Given the description of an element on the screen output the (x, y) to click on. 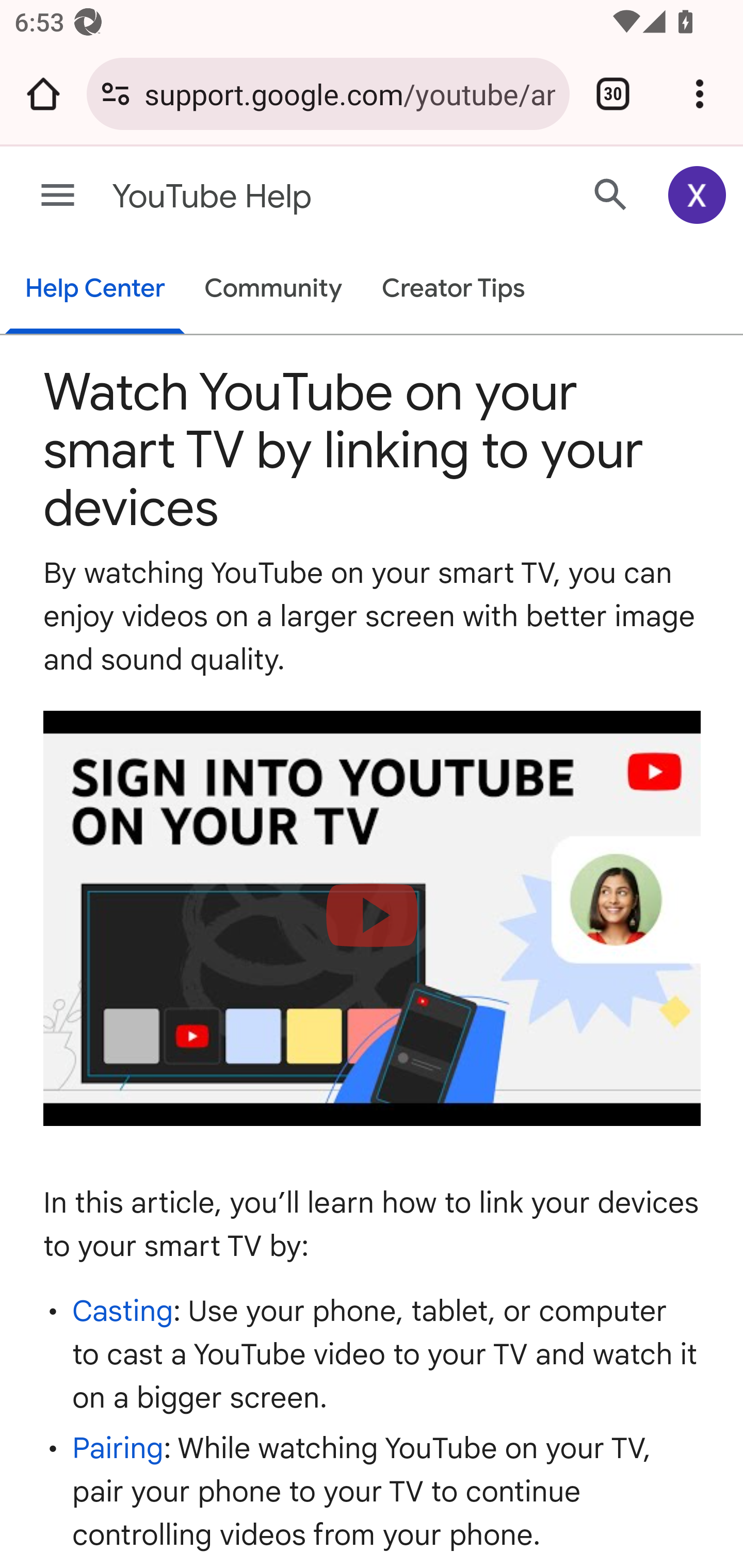
Open the home page (43, 93)
Connection is secure (115, 93)
Switch or close tabs (612, 93)
Customize and control Google Chrome (699, 93)
support.google.com/youtube/answer/7640706?hl=%@ (349, 92)
Main menu (58, 195)
YouTube Help (292, 197)
Search Help Center (611, 194)
Google Account: Xiaoran (zxrappiumtest@gmail.com) (697, 195)
Help Center (94, 289)
Community (273, 289)
Creator Tips (453, 289)
Load video (372, 918)
Casting (123, 1310)
Pairing (118, 1448)
